Given the description of an element on the screen output the (x, y) to click on. 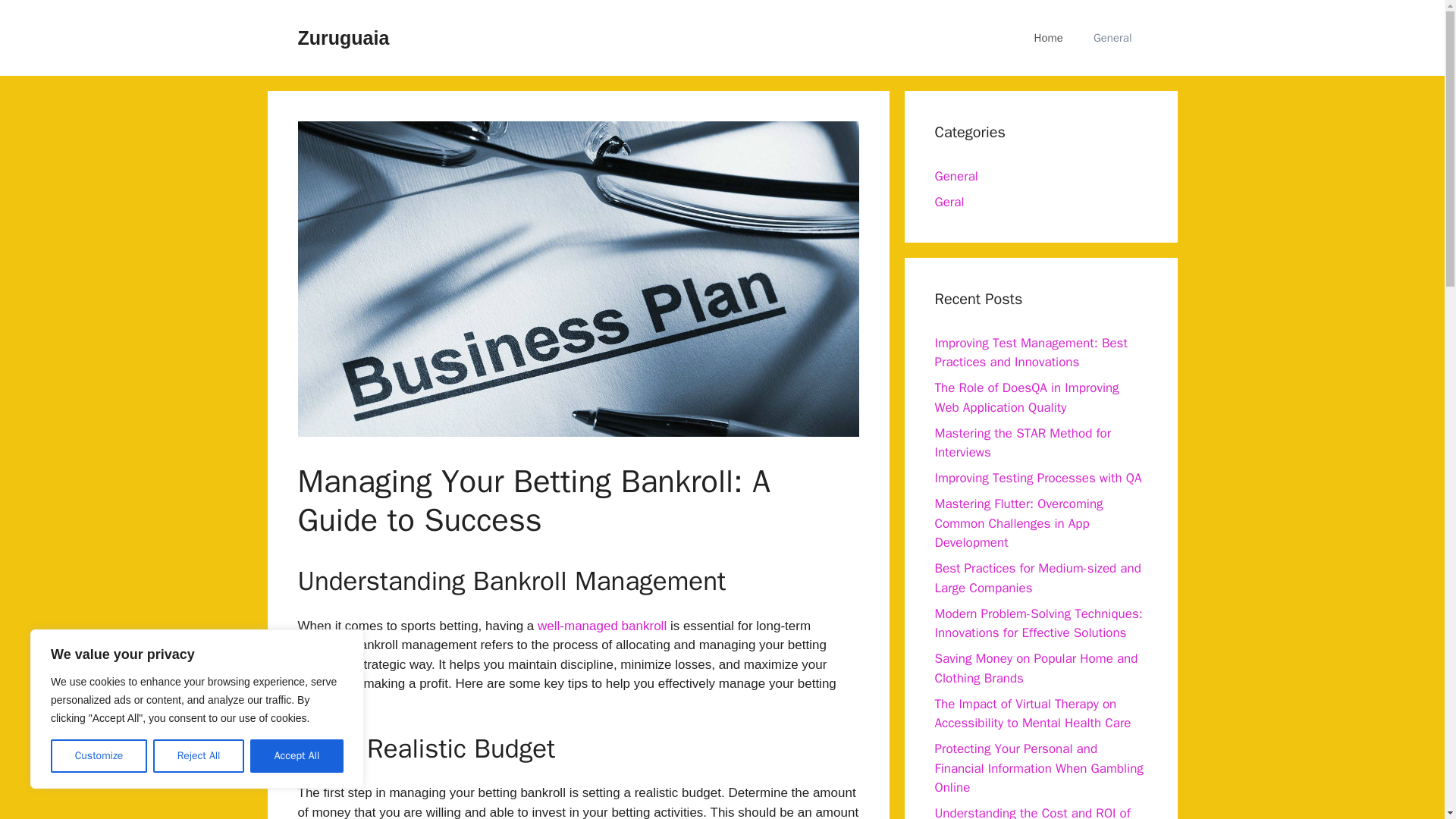
Zuruguaia (342, 37)
Best Practices for Medium-sized and Large Companies (1037, 578)
Customize (98, 756)
Reject All (198, 756)
General (955, 176)
Saving Money on Popular Home and Clothing Brands (1035, 668)
Home (1048, 37)
Improving Test Management: Best Practices and Innovations (1030, 352)
Accept All (296, 756)
Geral (948, 201)
Improving Testing Processes with QA (1037, 478)
Mastering the STAR Method for Interviews (1022, 442)
General (1112, 37)
